Given the description of an element on the screen output the (x, y) to click on. 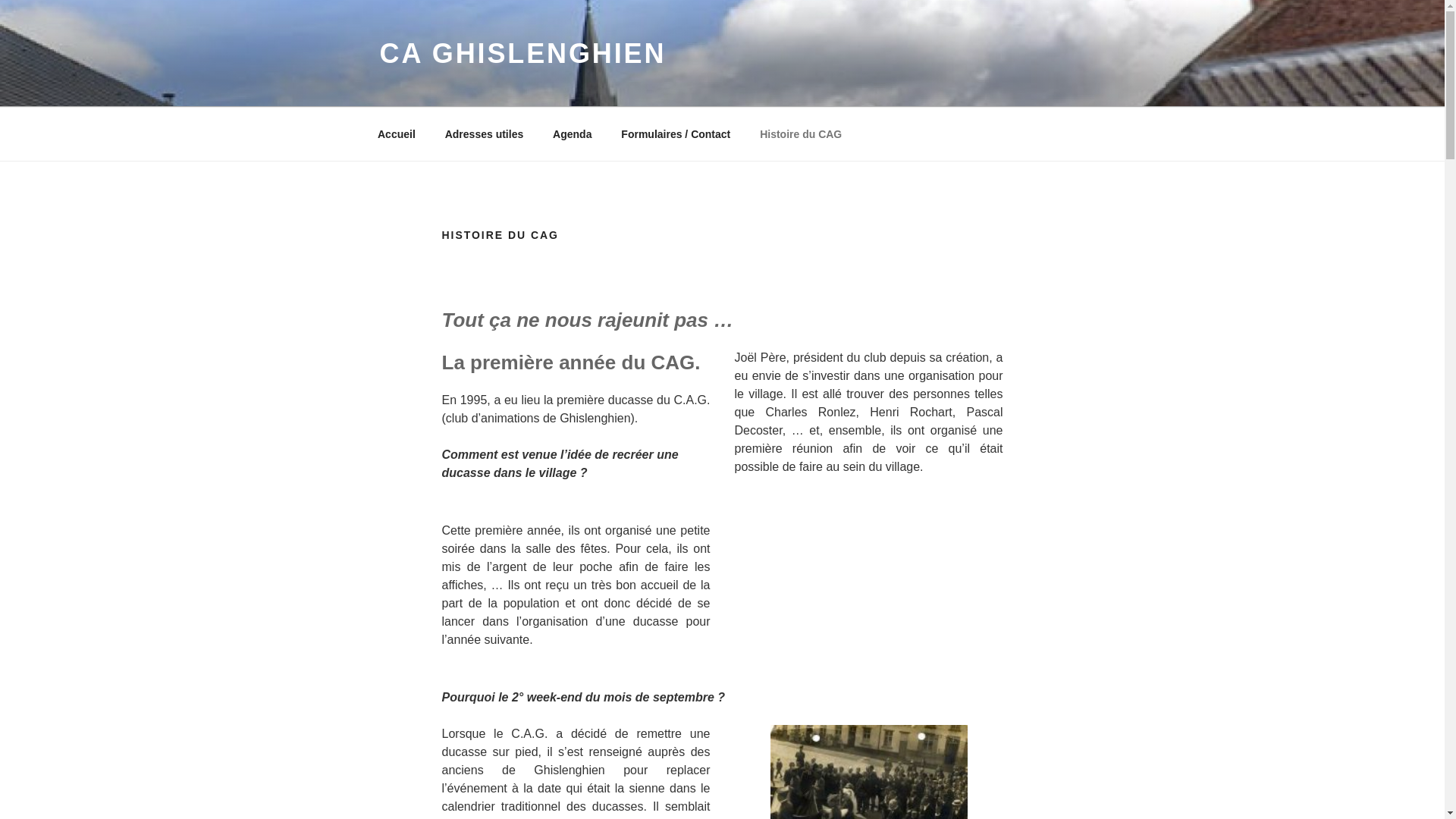
Histoire du CAG Element type: text (800, 133)
Adresses utiles Element type: text (483, 133)
Agenda Element type: text (572, 133)
Formulaires / Contact Element type: text (675, 133)
Accueil Element type: text (396, 133)
CA GHISLENGHIEN Element type: text (522, 53)
